Given the description of an element on the screen output the (x, y) to click on. 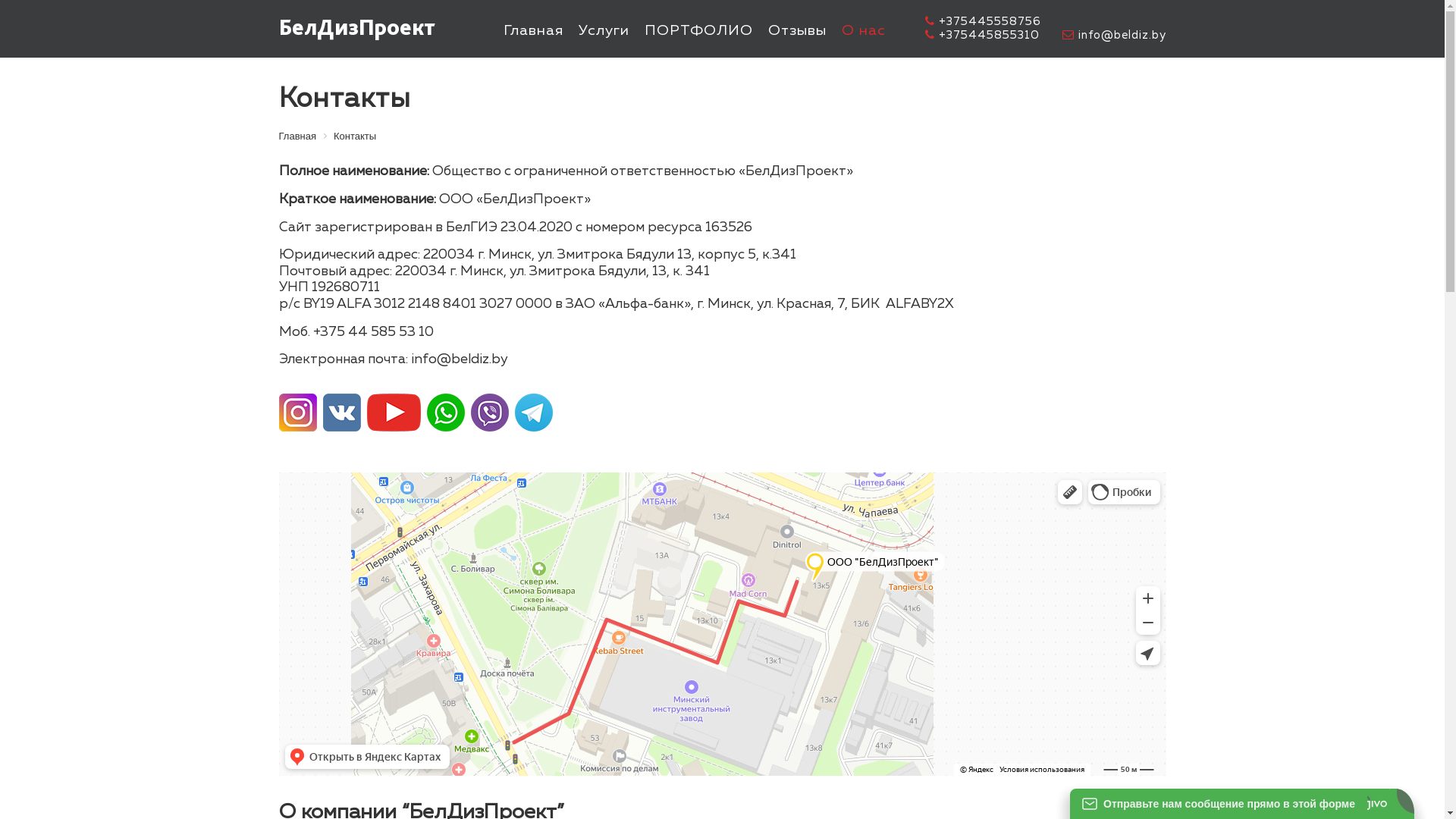
+375445855310 Element type: text (982, 34)
+375445558756 Element type: text (983, 21)
info@beldiz.by Element type: text (459, 359)
info@beldiz.by Element type: text (1113, 34)
